Given the description of an element on the screen output the (x, y) to click on. 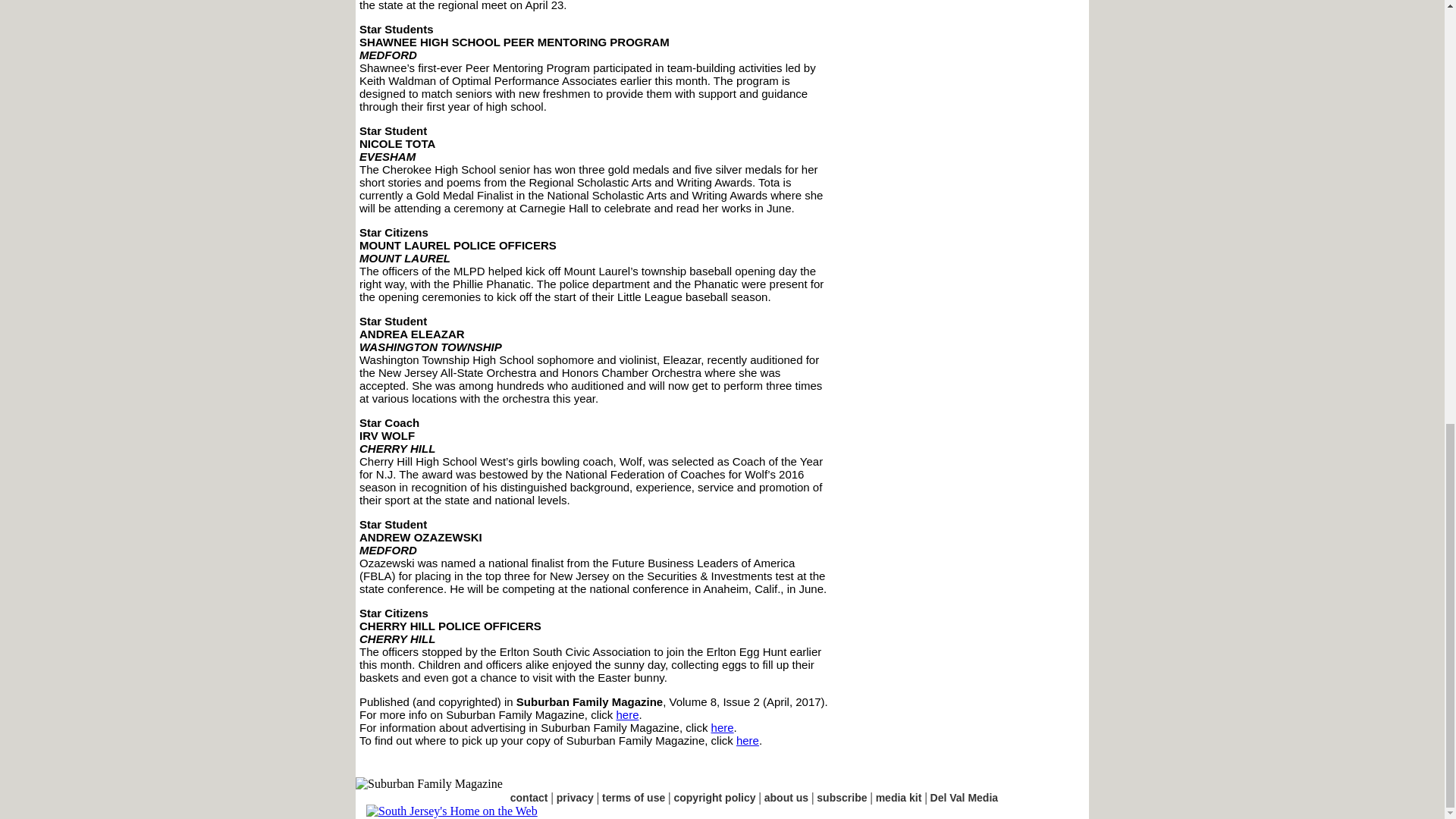
here (747, 739)
here (722, 727)
privacy (575, 797)
contact (529, 797)
terms of use (633, 797)
here (627, 714)
